Given the description of an element on the screen output the (x, y) to click on. 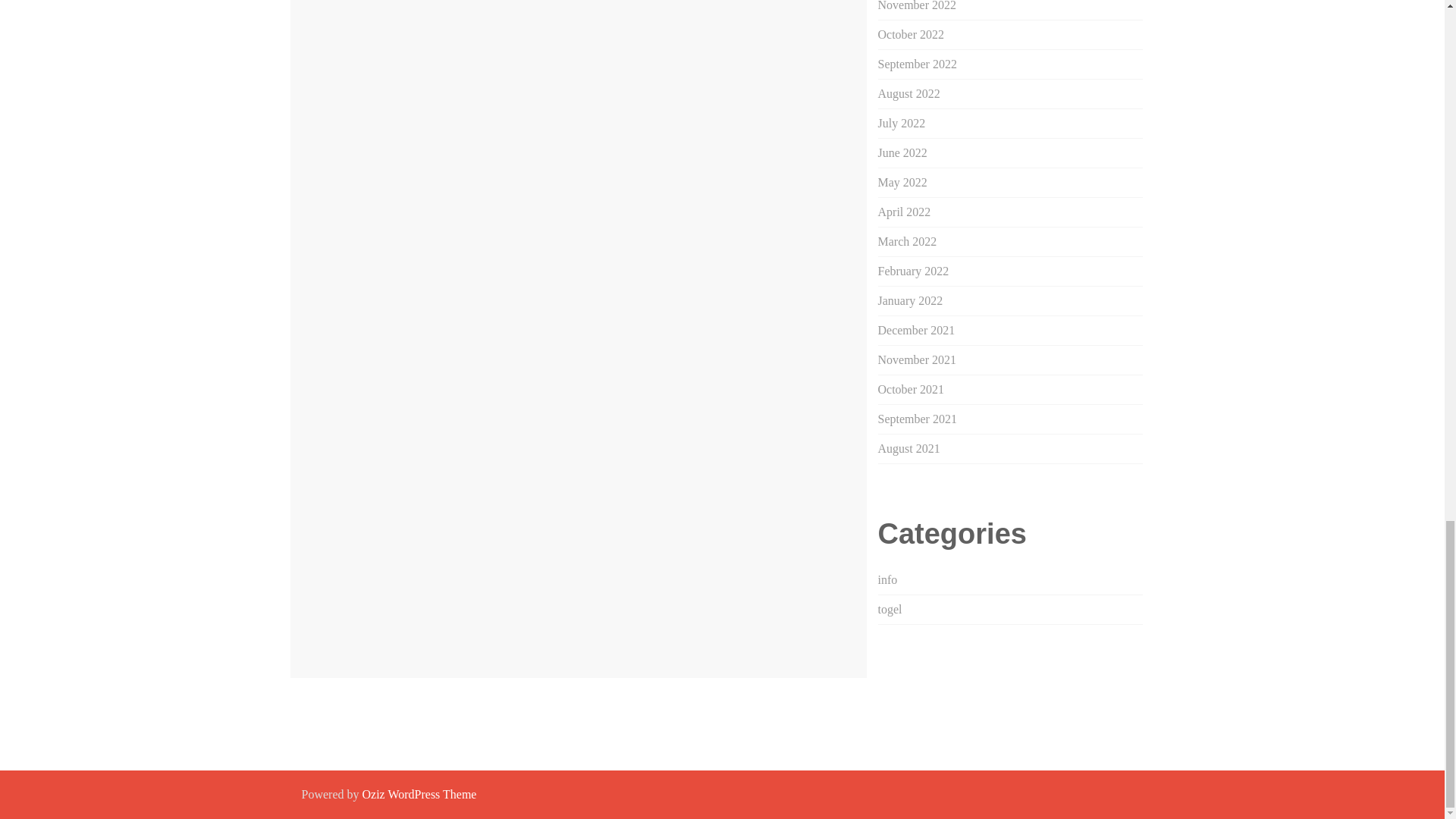
September 2022 (916, 63)
November 2022 (916, 5)
October 2022 (910, 33)
